Given the description of an element on the screen output the (x, y) to click on. 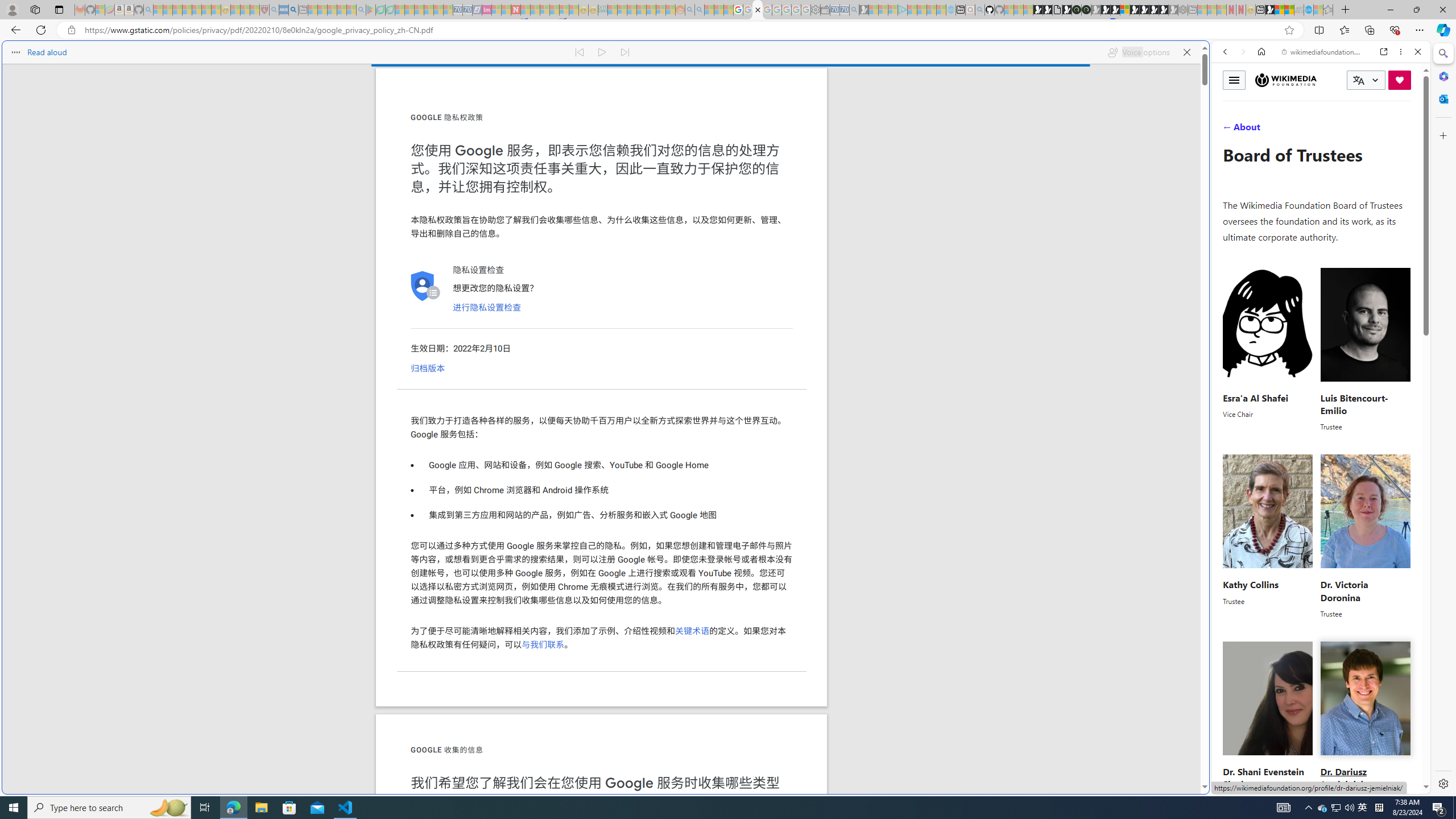
Earth has six continents not seven, radical new study claims (1288, 9)
